Given the description of an element on the screen output the (x, y) to click on. 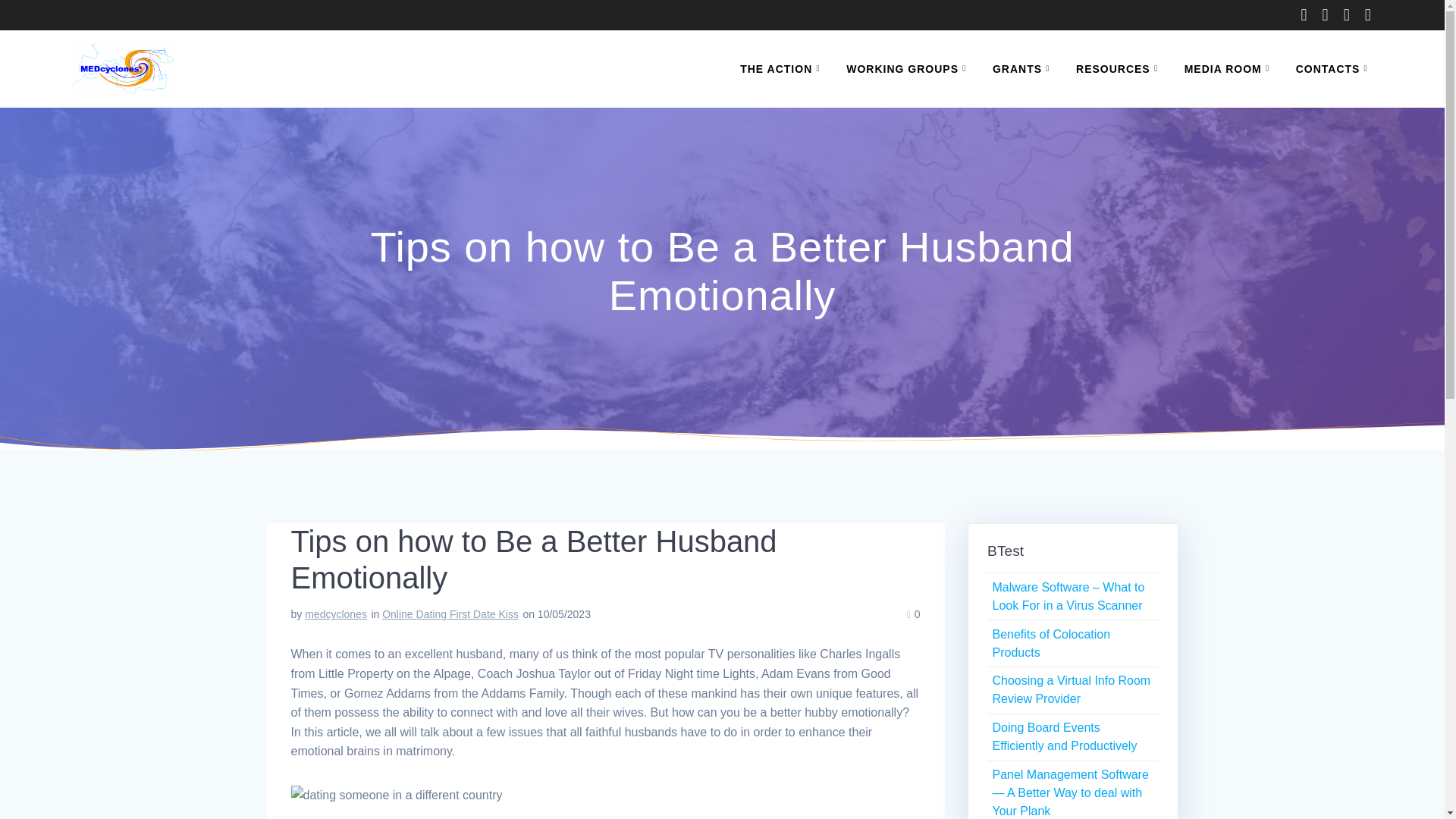
Posts by medcyclones (335, 613)
RESOURCES (1119, 68)
GRANTS (1023, 68)
MEDIA ROOM (1230, 68)
THE ACTION (782, 68)
WORKING GROUPS (908, 68)
